Given the description of an element on the screen output the (x, y) to click on. 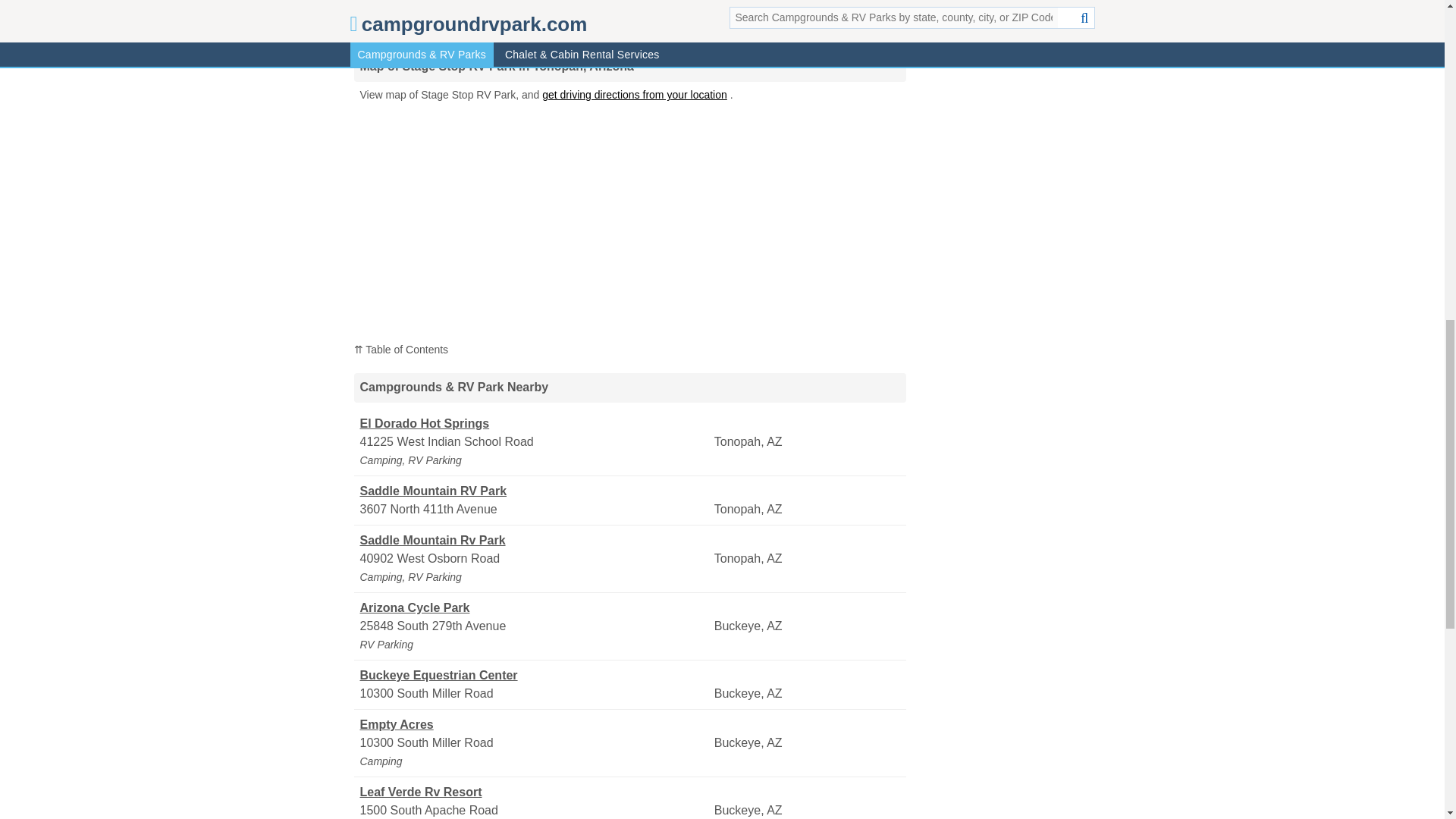
El Dorado Hot Springs in Tonopah, Arizona (534, 423)
Buckeye Equestrian Center (534, 675)
Buckeye Equestrian Center in Buckeye, Arizona (534, 675)
Leaf Verde Rv Resort (534, 791)
El Dorado Hot Springs (534, 423)
Saddle Mountain Rv Park (534, 540)
get driving directions from your location (633, 94)
Arizona Cycle Park (534, 607)
Saddle Mountain Rv Park in Tonopah, Arizona (534, 540)
Empty Acres (534, 724)
Saddle Mountain RV Park (534, 491)
Arizona Cycle Park in Buckeye, Arizona (534, 607)
Leaf Verde Rv Resort in Buckeye, Arizona (534, 791)
Empty Acres in Buckeye, Arizona (534, 724)
Advertisement (629, 18)
